Given the description of an element on the screen output the (x, y) to click on. 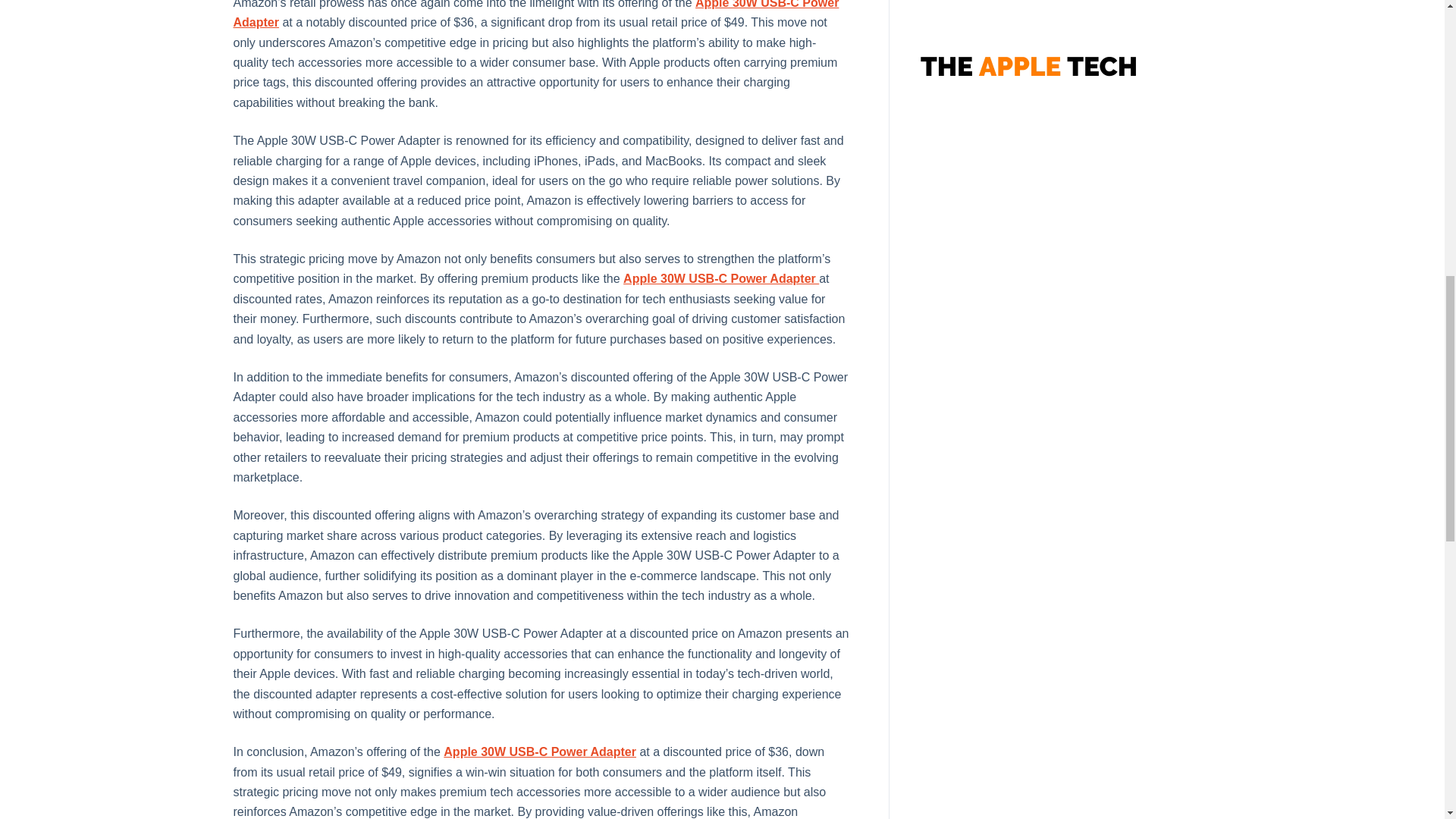
Apple 30W USB-C Power Adapter (720, 278)
Apple 30W USB-C Power Adapter (536, 14)
Apple 30W USB-C Power Adapter (540, 751)
